Given the description of an element on the screen output the (x, y) to click on. 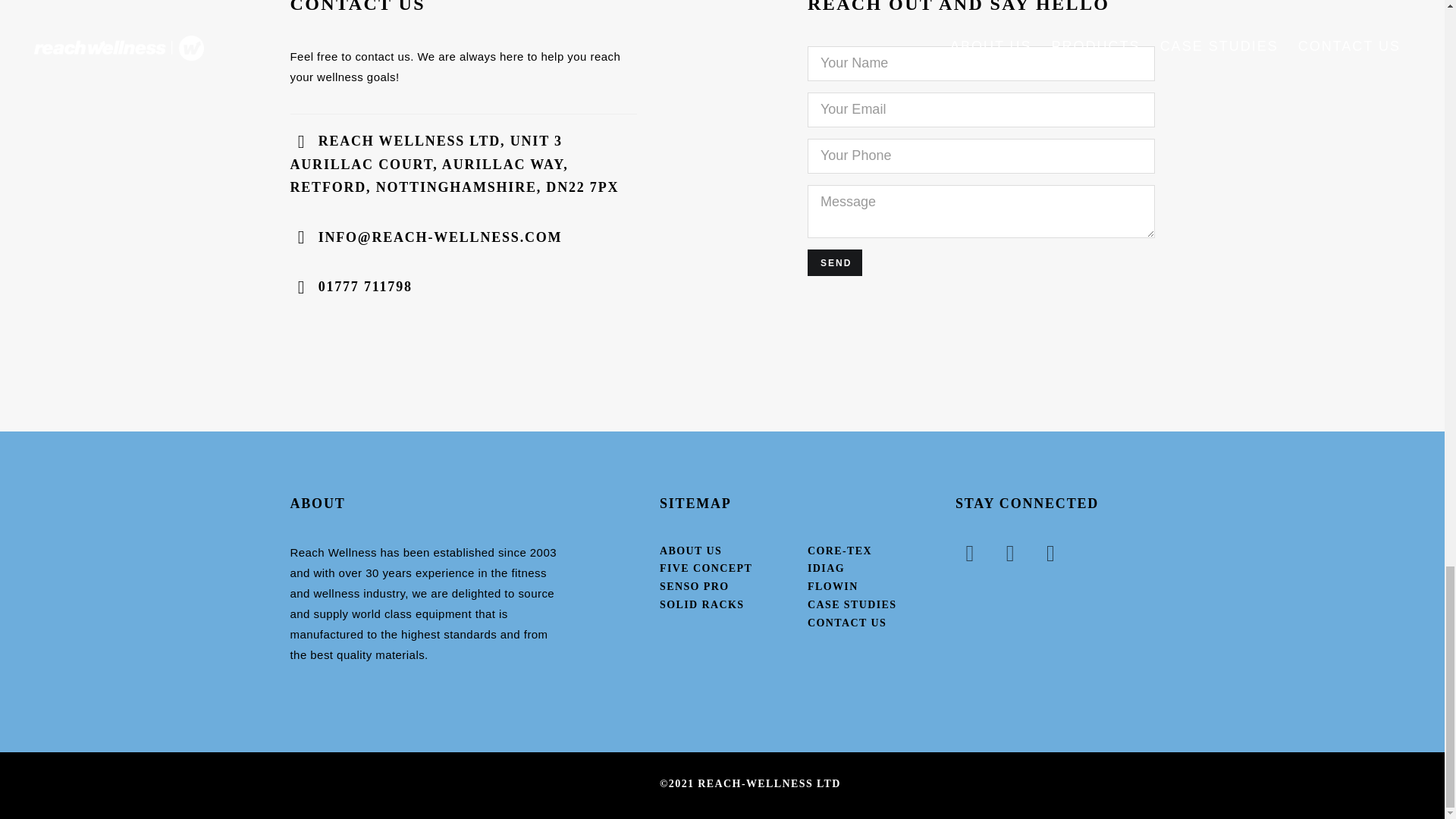
SOLID RACKS (701, 604)
SEND (834, 262)
CONTACT US (847, 622)
FLOWIN (833, 586)
SENSO PRO (694, 586)
IDIAG (826, 568)
CORE-TEX (840, 550)
FIVE CONCEPT (705, 568)
ABOUT US (690, 550)
CASE STUDIES (852, 604)
